Given the description of an element on the screen output the (x, y) to click on. 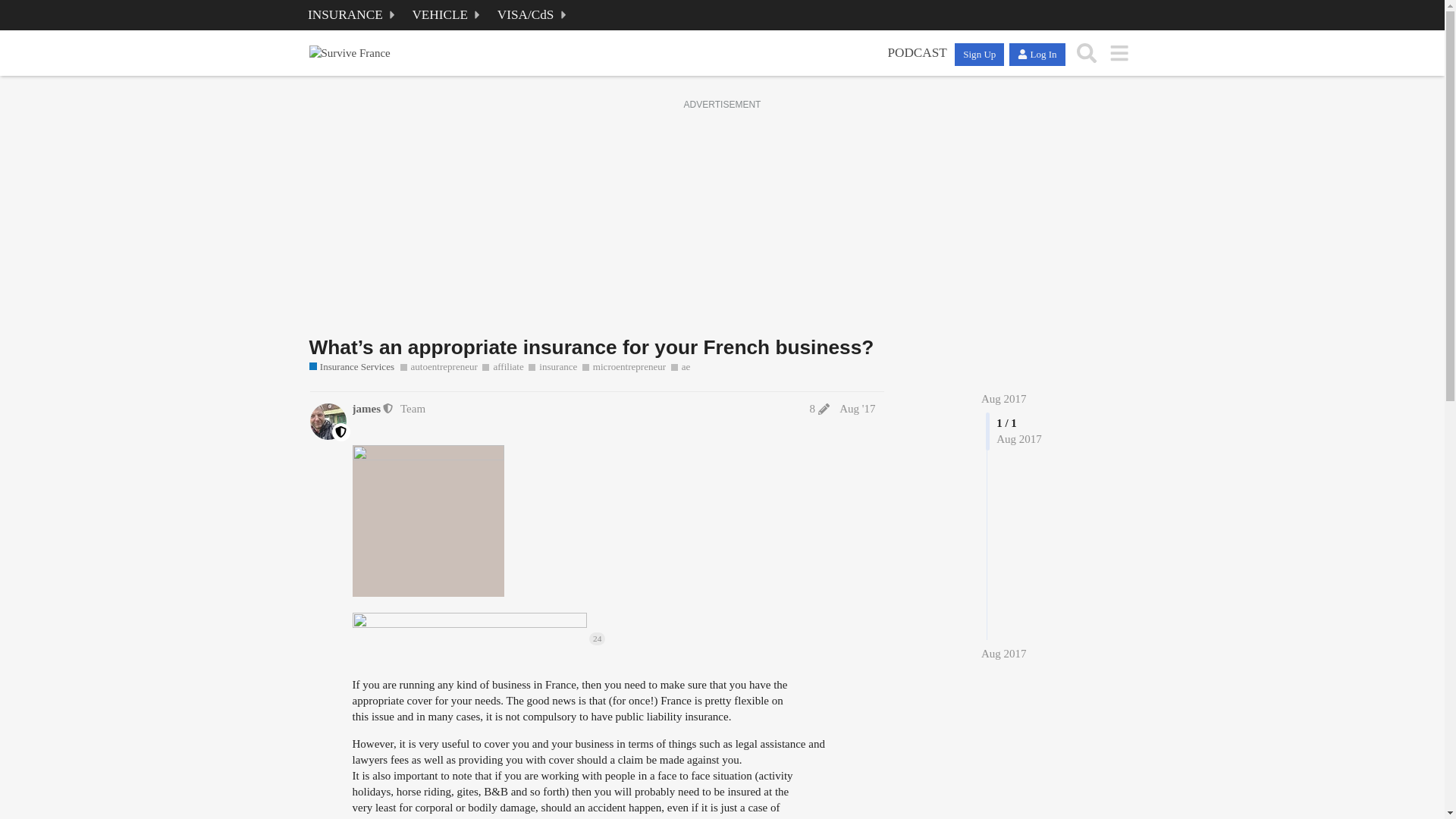
affiliate (501, 366)
ae (680, 366)
autoentrepreneur (438, 366)
james (366, 408)
INSURANCE (353, 15)
Log In (1036, 53)
Aug 2017 (1003, 653)
Sign Up (979, 53)
France Made Simple (917, 52)
Fab Insurance (353, 15)
Team (412, 408)
Aug 2017 (1003, 398)
8 (818, 408)
Aug '17 (857, 408)
Vehicle Registration (448, 15)
